Given the description of an element on the screen output the (x, y) to click on. 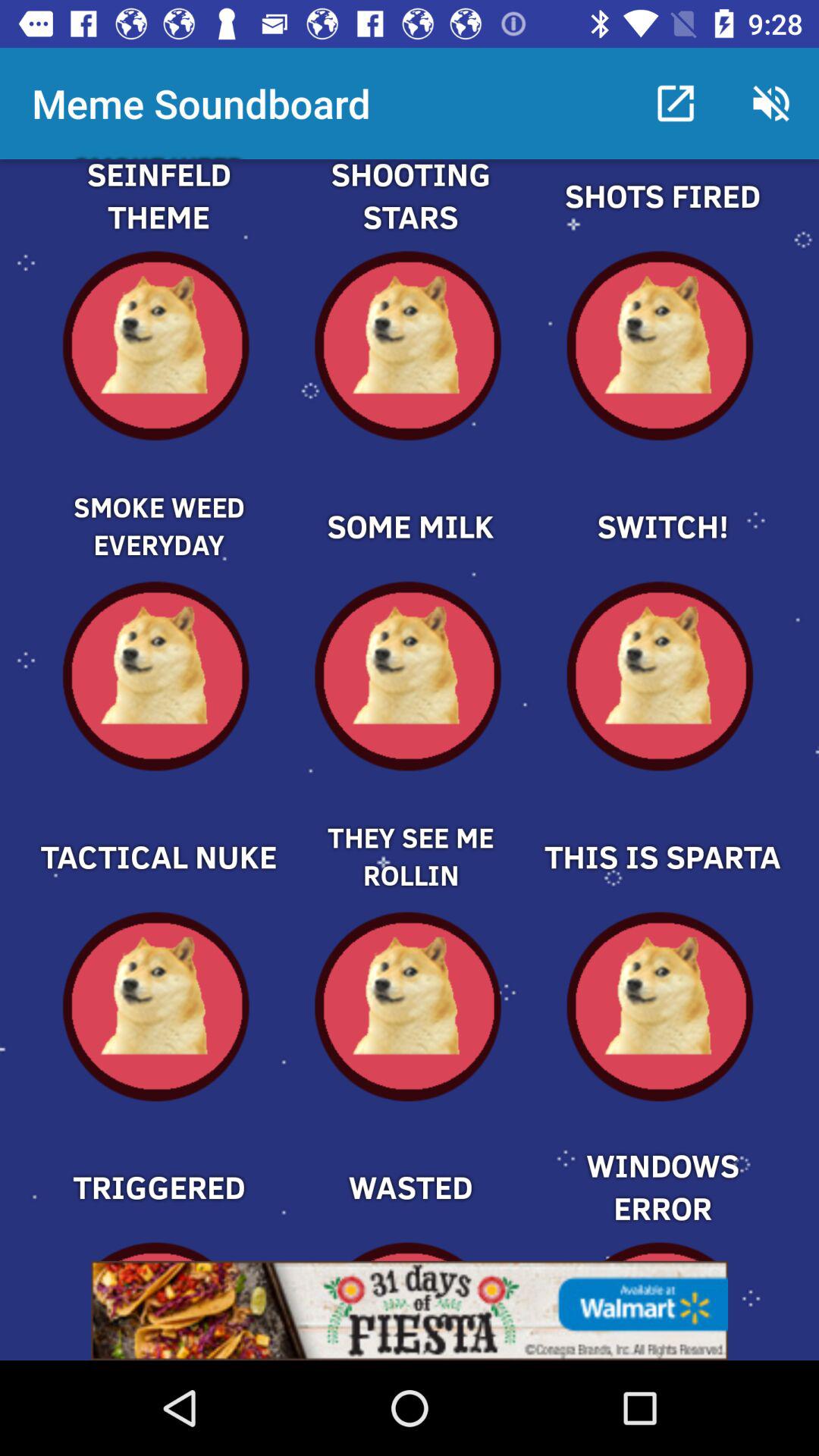
play sound (409, 500)
